Given the description of an element on the screen output the (x, y) to click on. 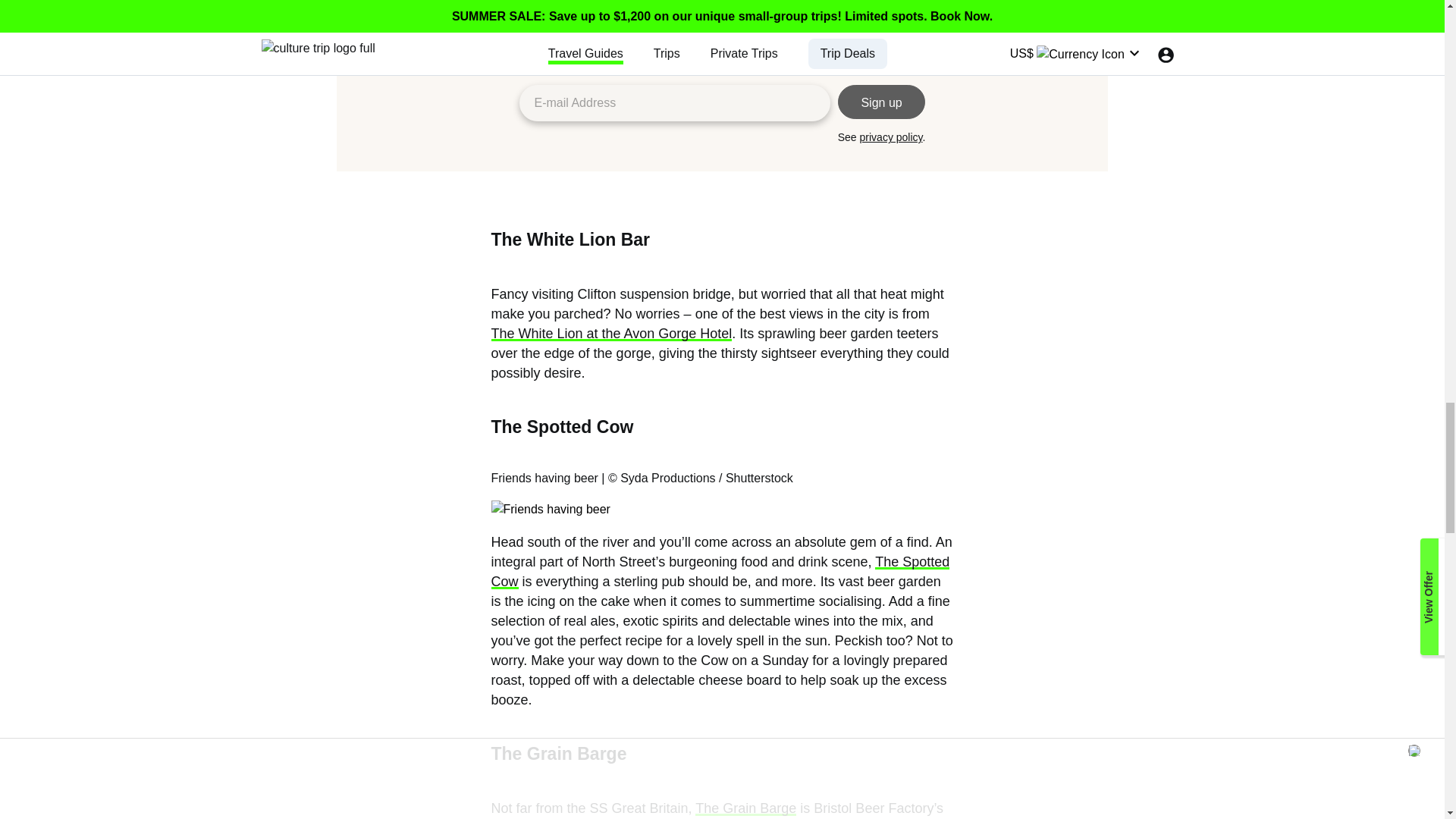
Sign up (882, 101)
The Spotted Cow (721, 571)
The White Lion at the Avon Gorge Hotel (612, 333)
privacy policy (891, 137)
The Grain Barge (745, 807)
